Given the description of an element on the screen output the (x, y) to click on. 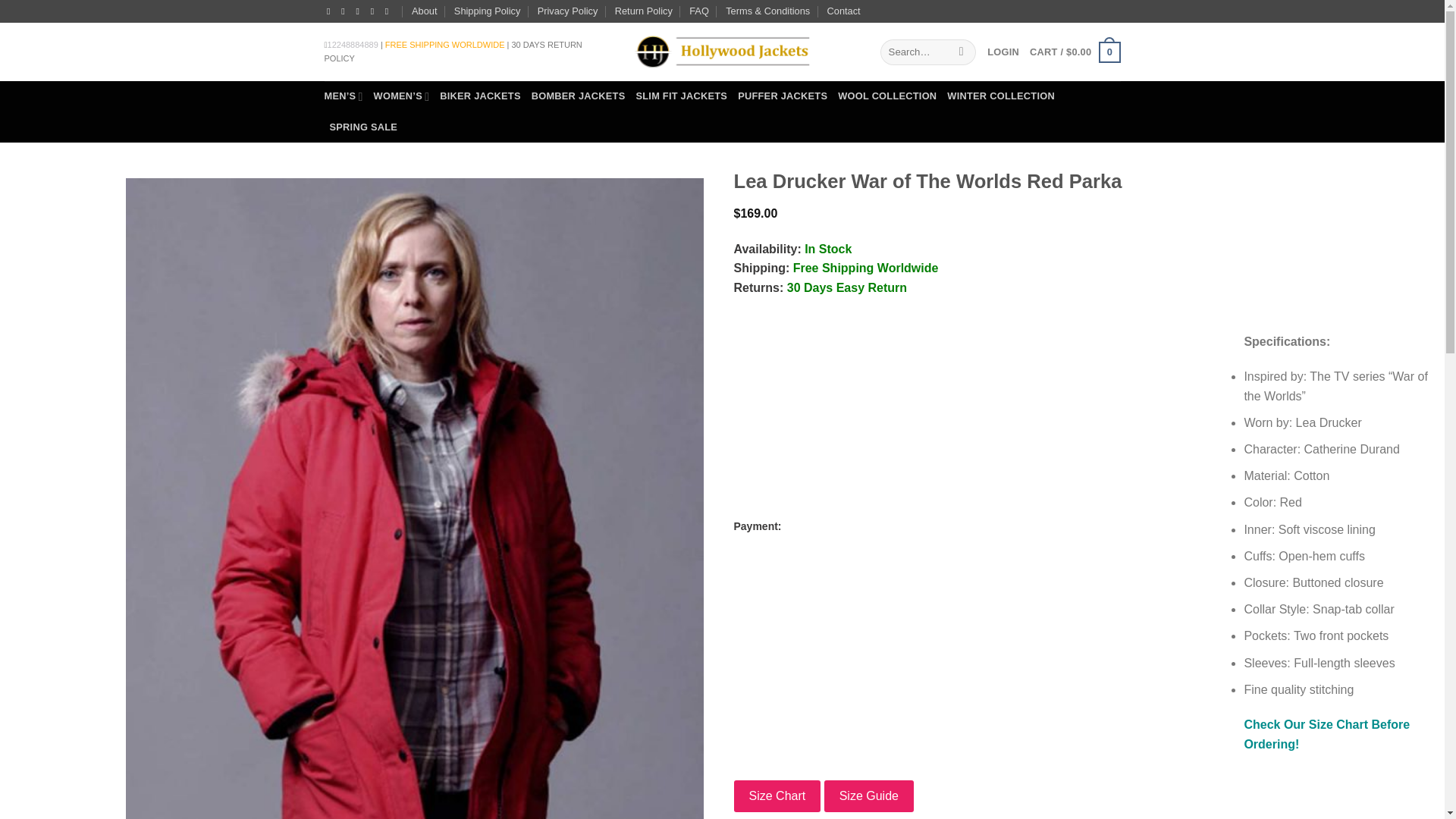
Shipping Policy (487, 11)
Privacy Policy (567, 11)
Search (961, 52)
About (424, 11)
Contact (843, 11)
Hollywood Jackets - Hollywood Jackets (721, 52)
12248884889 (352, 44)
Return Policy (643, 11)
LOGIN (1003, 51)
Cart (1074, 52)
